Given the description of an element on the screen output the (x, y) to click on. 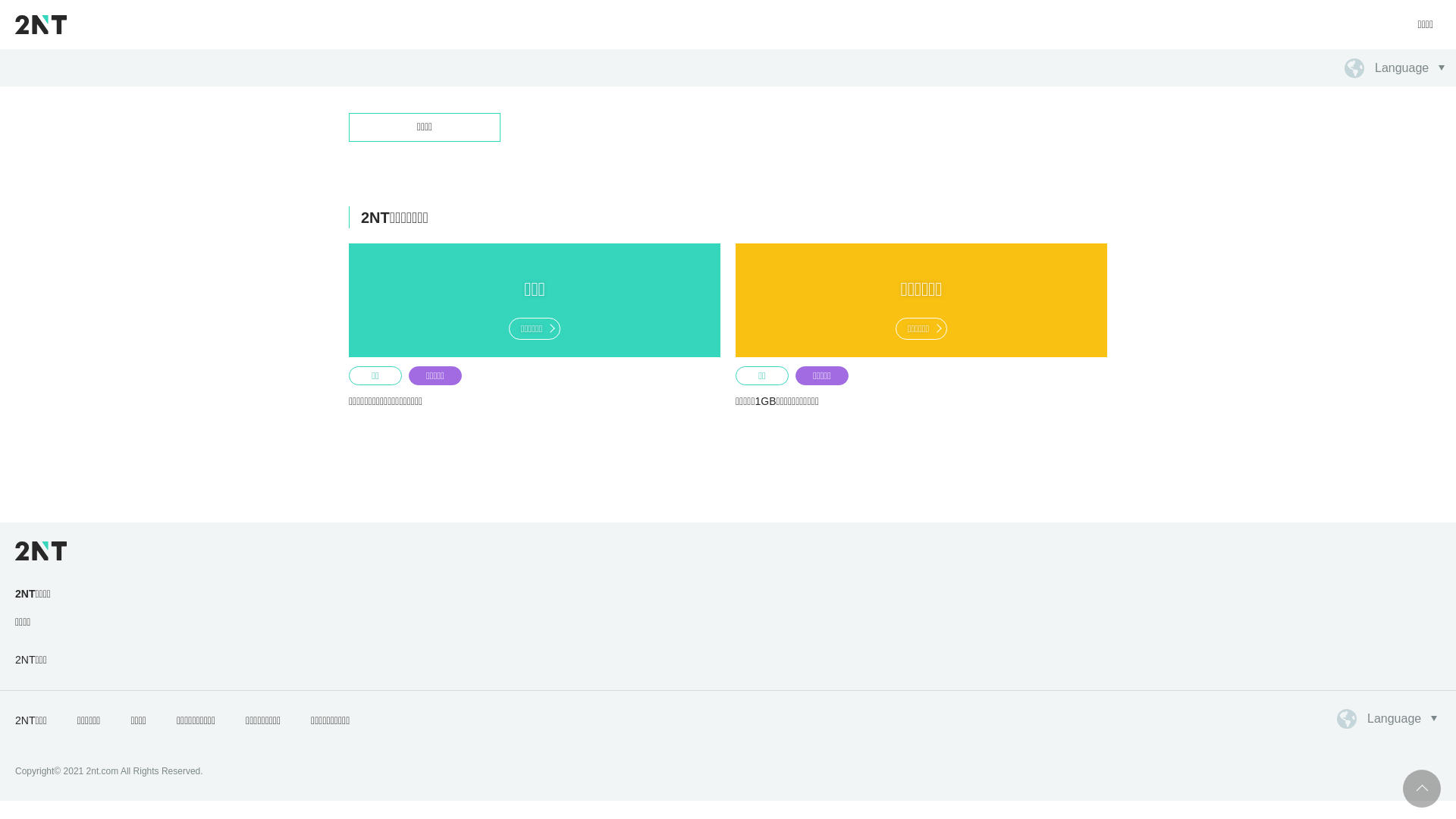
2NT Element type: hover (40, 24)
